Given the description of an element on the screen output the (x, y) to click on. 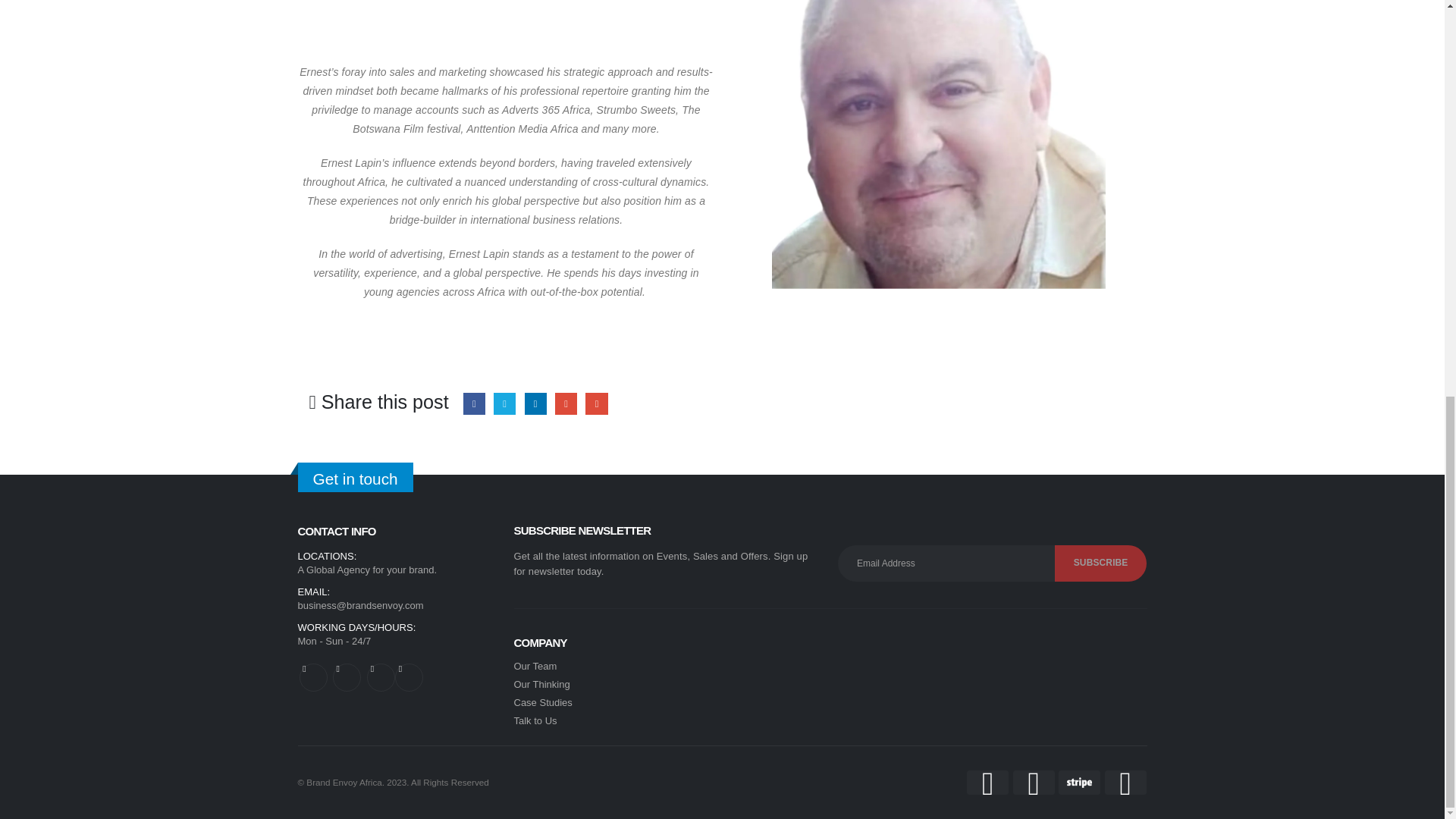
Twitter (504, 403)
Email (596, 403)
SUBSCRIBE (1100, 563)
Advertisement (505, 28)
Facebook (473, 403)
LinkedIn (535, 403)
